Given the description of an element on the screen output the (x, y) to click on. 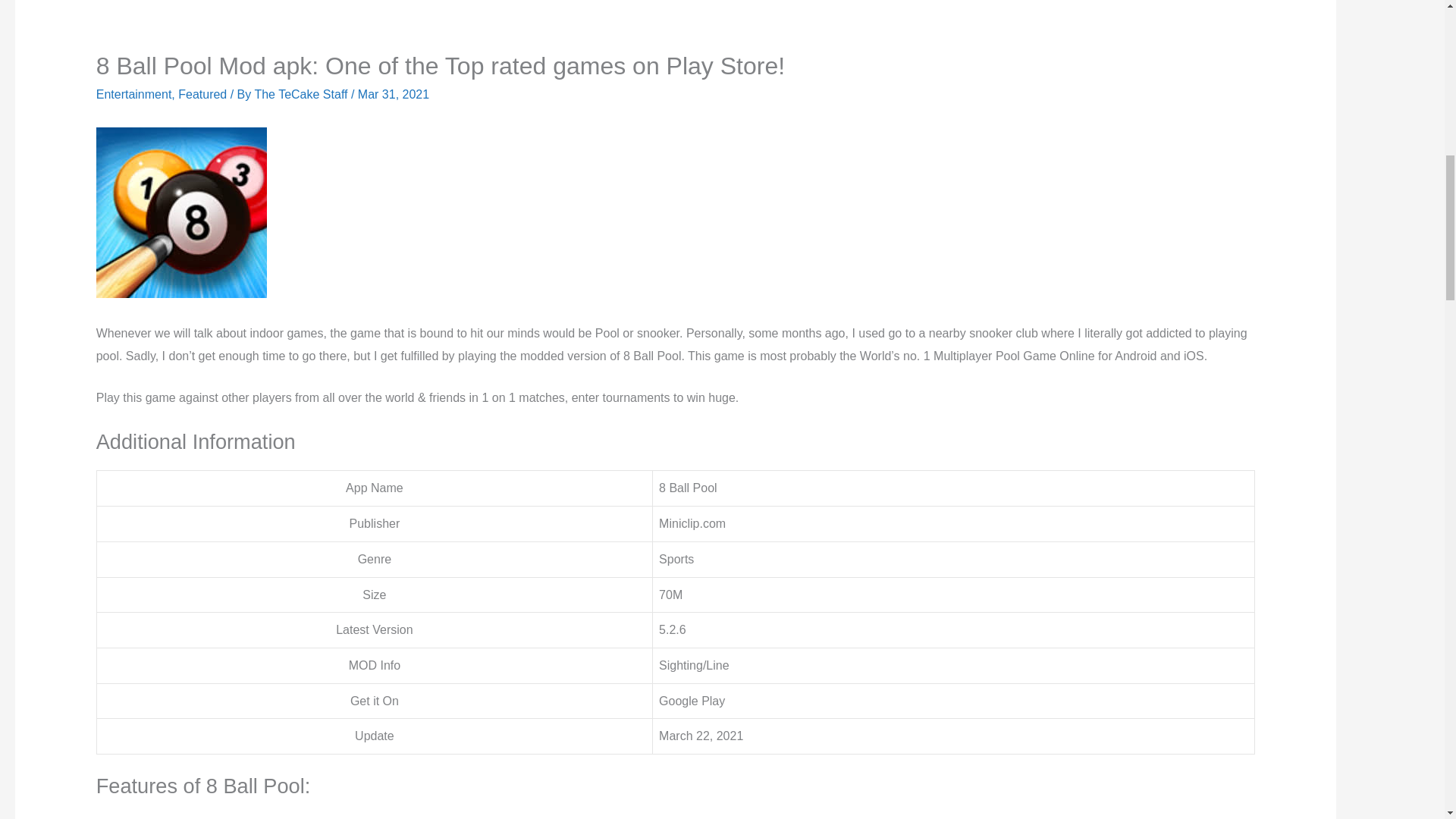
Entertainment (133, 93)
View all posts by The TeCake Staff (301, 93)
Featured (202, 93)
